Given the description of an element on the screen output the (x, y) to click on. 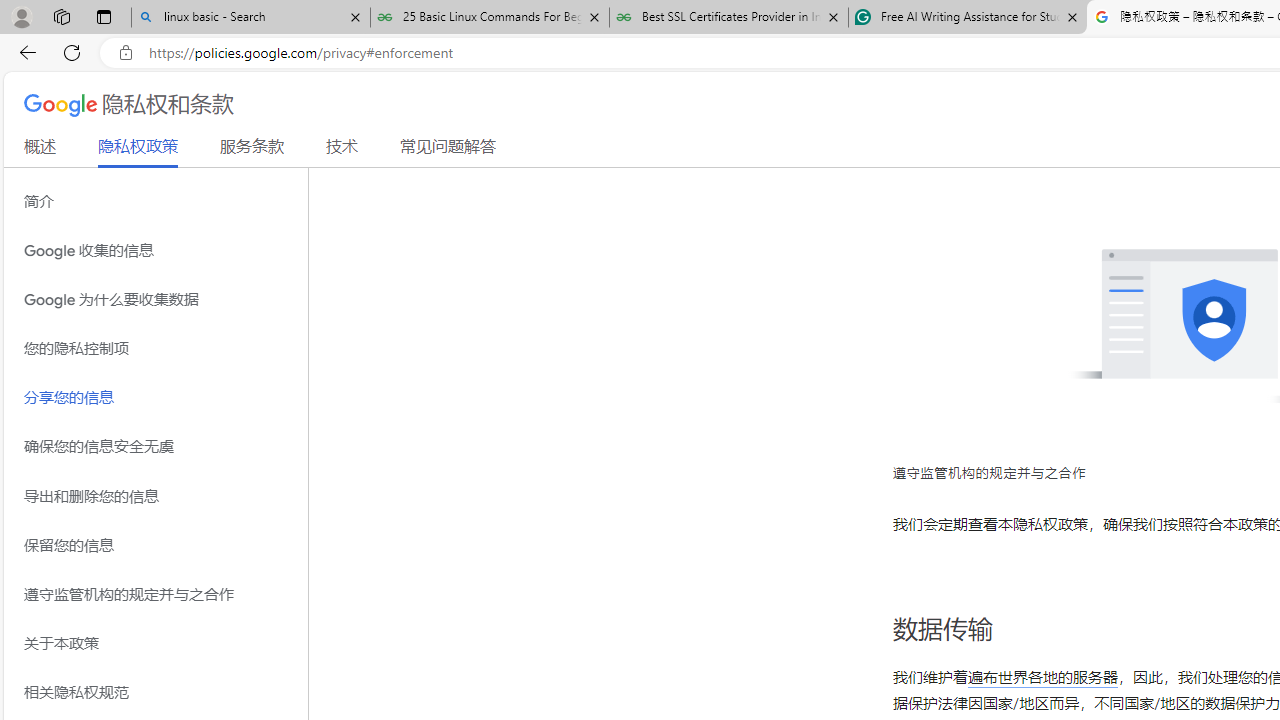
Best SSL Certificates Provider in India - GeeksforGeeks (729, 17)
linux basic - Search (250, 17)
Free AI Writing Assistance for Students | Grammarly (967, 17)
25 Basic Linux Commands For Beginners - GeeksforGeeks (490, 17)
